Given the description of an element on the screen output the (x, y) to click on. 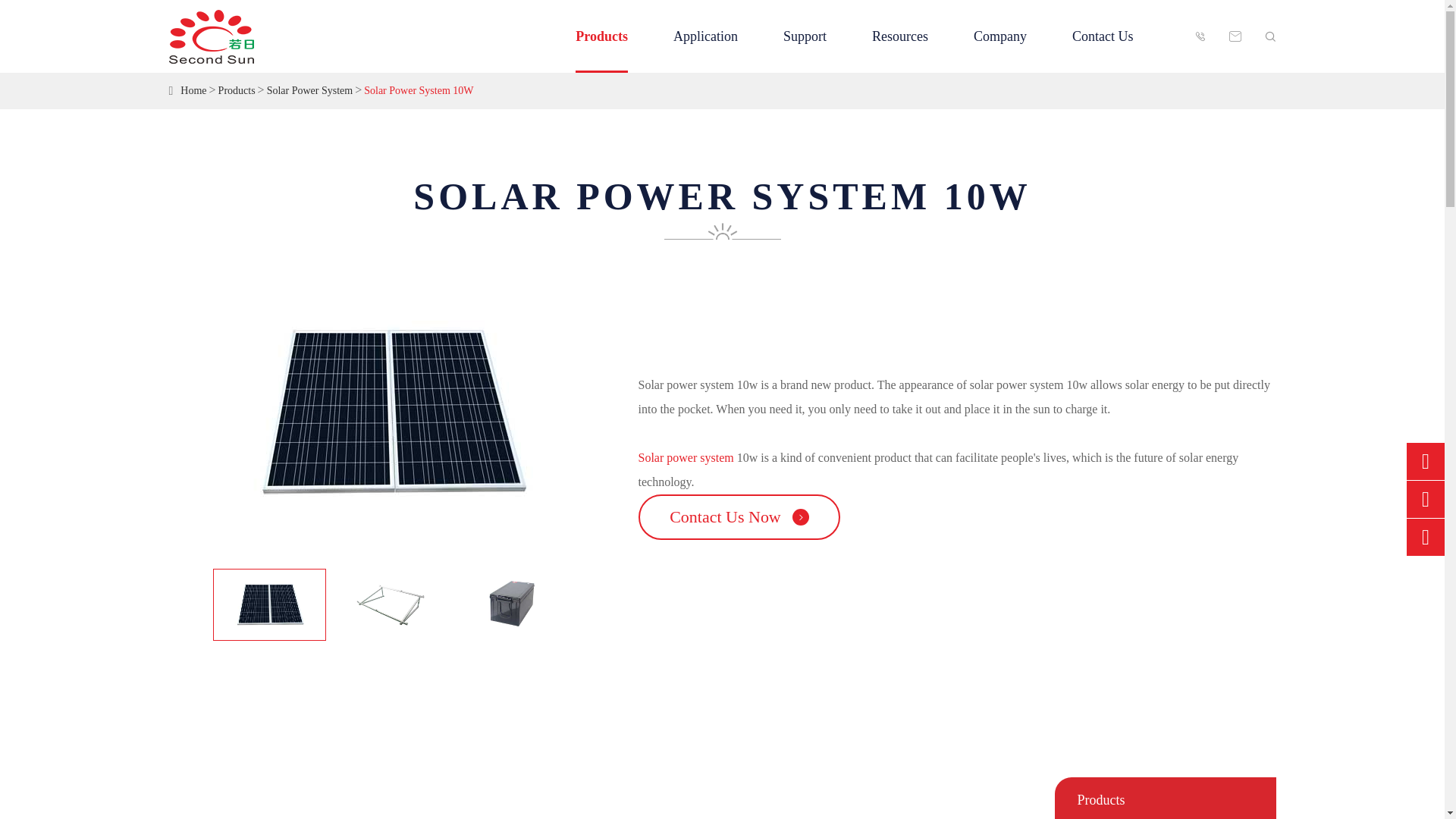
Solar Power System (309, 90)
Products (601, 36)
Solar Power System 10W (389, 604)
Shenzhen Centurysunshine Lighting Limited. (210, 36)
Solar Power System 10W (389, 412)
Products (237, 90)
Application (705, 36)
Solar Power System 10W (418, 90)
Solar Power System 10W (269, 604)
